Given the description of an element on the screen output the (x, y) to click on. 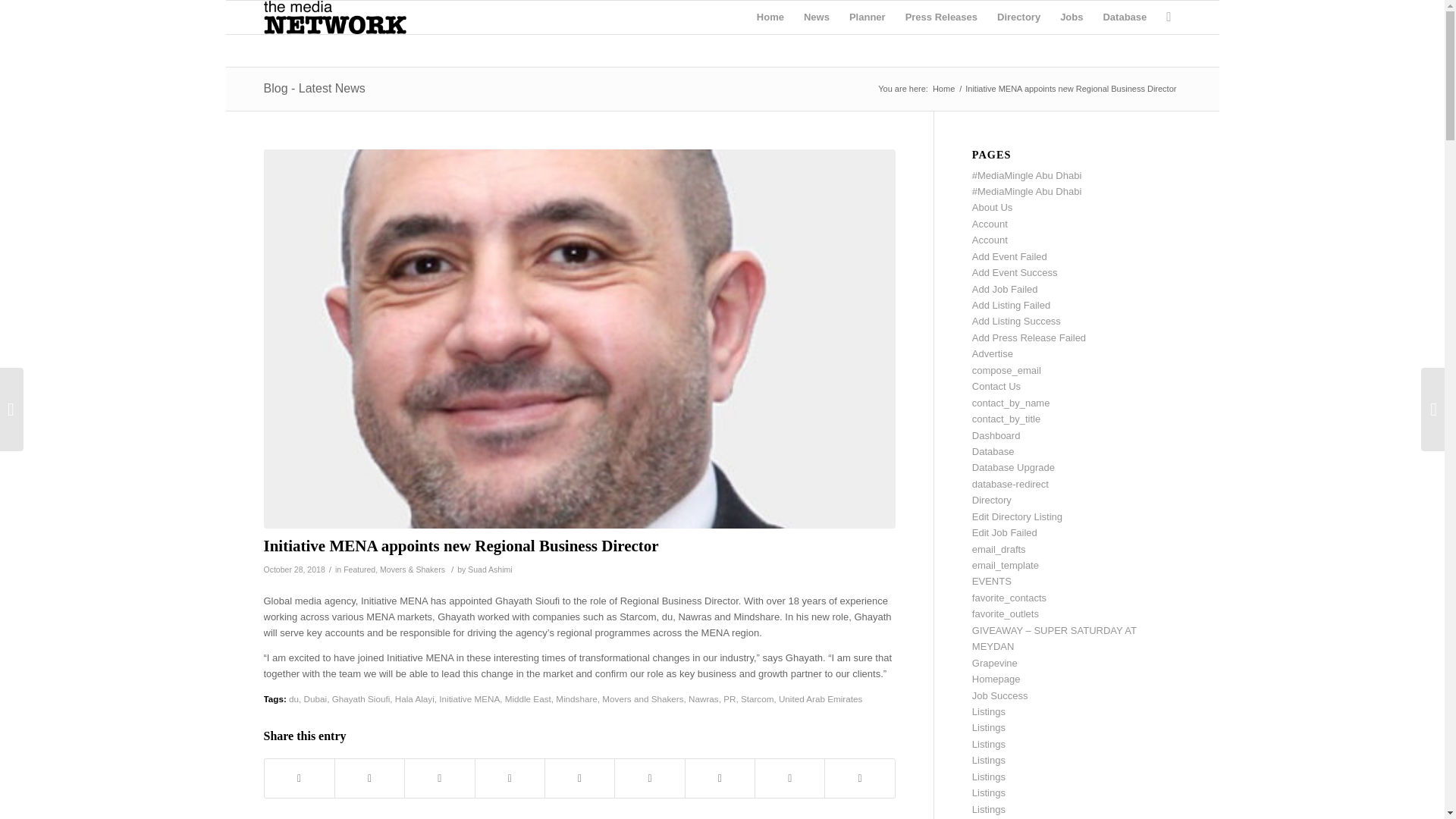
Starcom (757, 698)
Home (769, 17)
Home (943, 89)
Featured (359, 569)
Posts by Suad Ashimi (489, 569)
PR (729, 698)
Mindshare (576, 698)
Permanent Link: Blog - Latest News (314, 88)
Nawras (703, 698)
Middle East (528, 698)
Initiative MENA appoints new Regional Business Director  (462, 546)
du (293, 698)
News (816, 17)
Press Releases (941, 17)
